Given the description of an element on the screen output the (x, y) to click on. 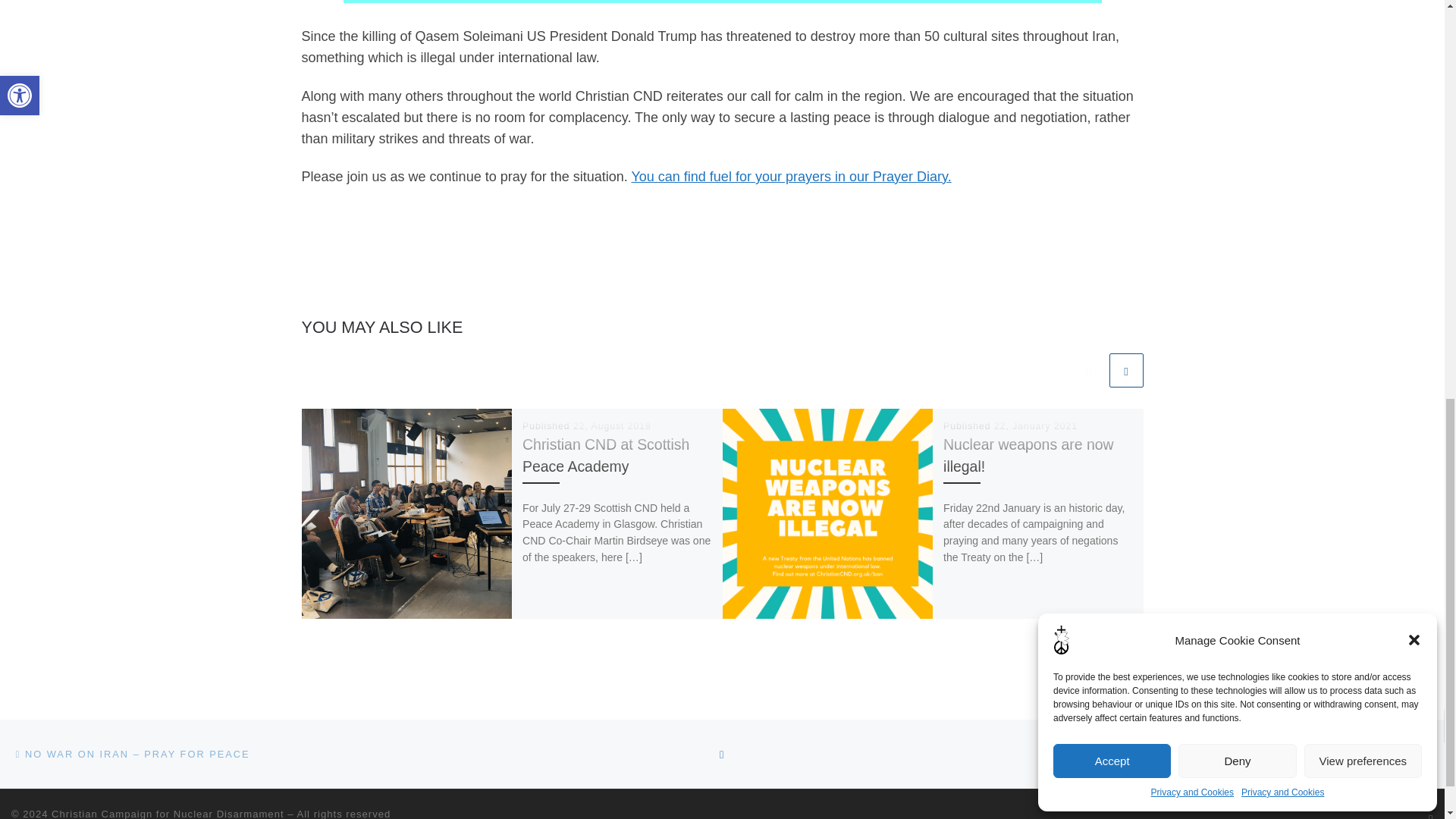
Next related articles (1125, 369)
Christian Campaign for Nuclear Disarmament (166, 813)
Previous related articles (1088, 369)
